Given the description of an element on the screen output the (x, y) to click on. 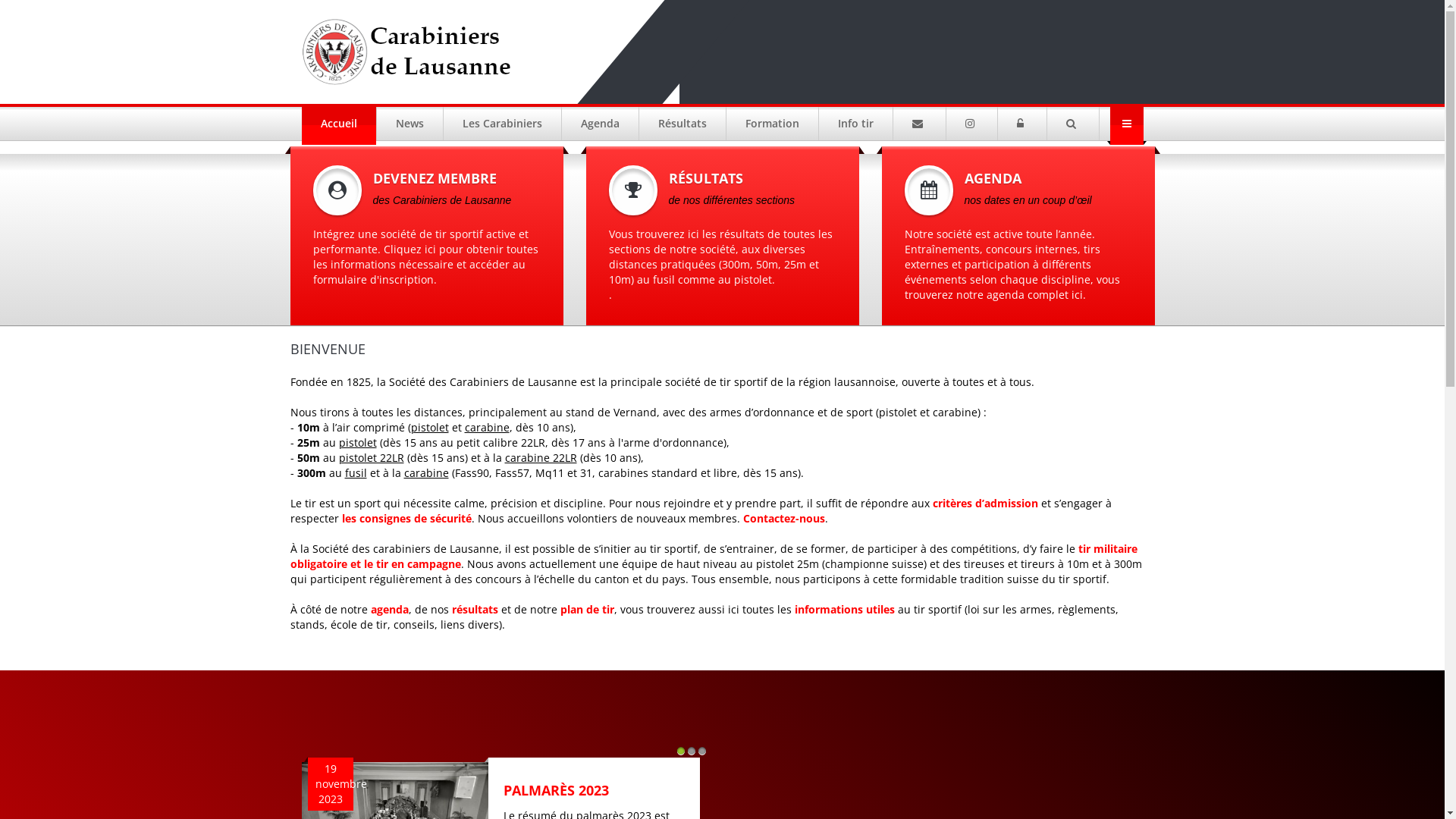
agenda Element type: text (388, 609)
AGENDA Element type: text (1017, 175)
Accueil Element type: text (338, 123)
Info tir Element type: text (856, 123)
DEVENEZ MEMBRE Element type: text (425, 175)
Les Carabiniers Element type: text (501, 123)
Agenda Element type: text (599, 123)
tir militaire obligatoire et le tir en campagne Element type: text (712, 556)
1 Element type: text (680, 750)
Contactez-nous Element type: text (784, 518)
informations utiles Element type: text (844, 609)
Formation Element type: text (772, 123)
News Element type: text (409, 123)
3 Element type: text (701, 750)
plan de tir Element type: text (586, 609)
2 Element type: text (691, 750)
